Given the description of an element on the screen output the (x, y) to click on. 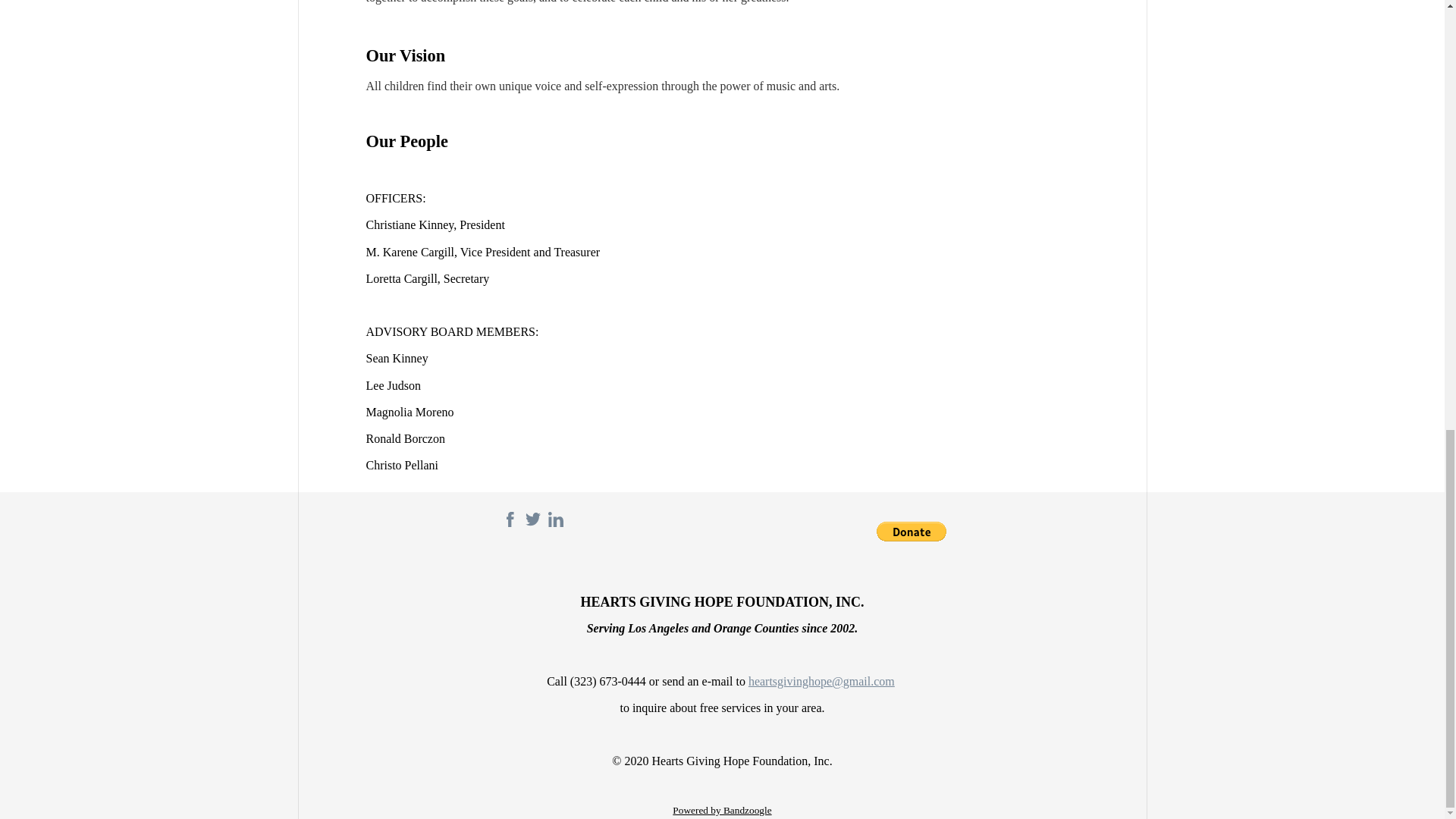
Powered by Bandzoogle (721, 809)
Powered by Bandzoogle (721, 809)
